Given the description of an element on the screen output the (x, y) to click on. 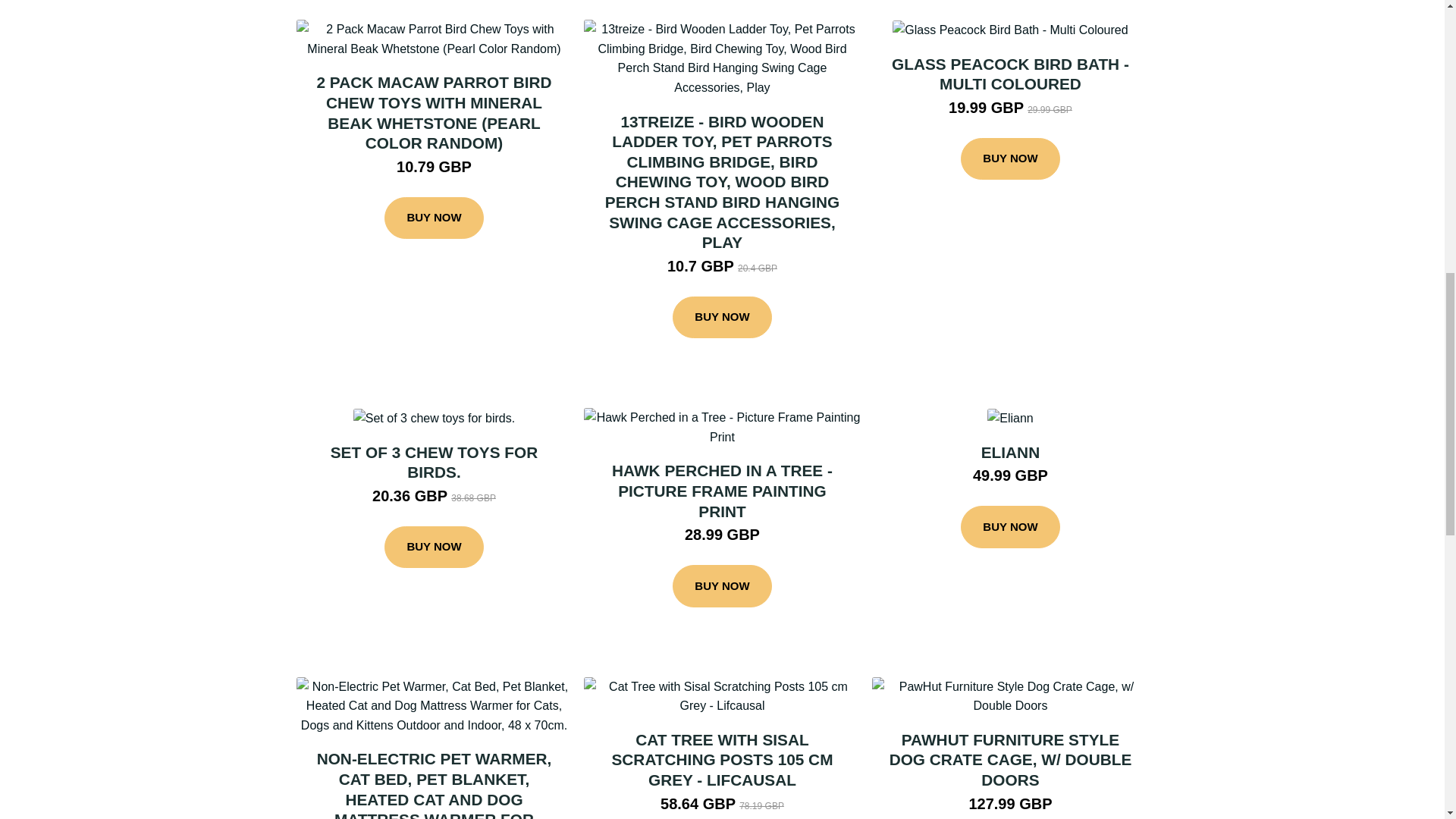
BUY NOW (433, 218)
BUY NOW (1009, 526)
BUY NOW (433, 547)
HAWK PERCHED IN A TREE - PICTURE FRAME PAINTING PRINT (721, 490)
ELIANN (1010, 452)
SET OF 3 CHEW TOYS FOR BIRDS. (433, 462)
CAT TREE WITH SISAL SCRATCHING POSTS 105 CM GREY - LIFCAUSAL (721, 759)
BUY NOW (721, 586)
BUY NOW (1009, 159)
BUY NOW (721, 317)
GLASS PEACOCK BIRD BATH - MULTI COLOURED (1010, 74)
